Given the description of an element on the screen output the (x, y) to click on. 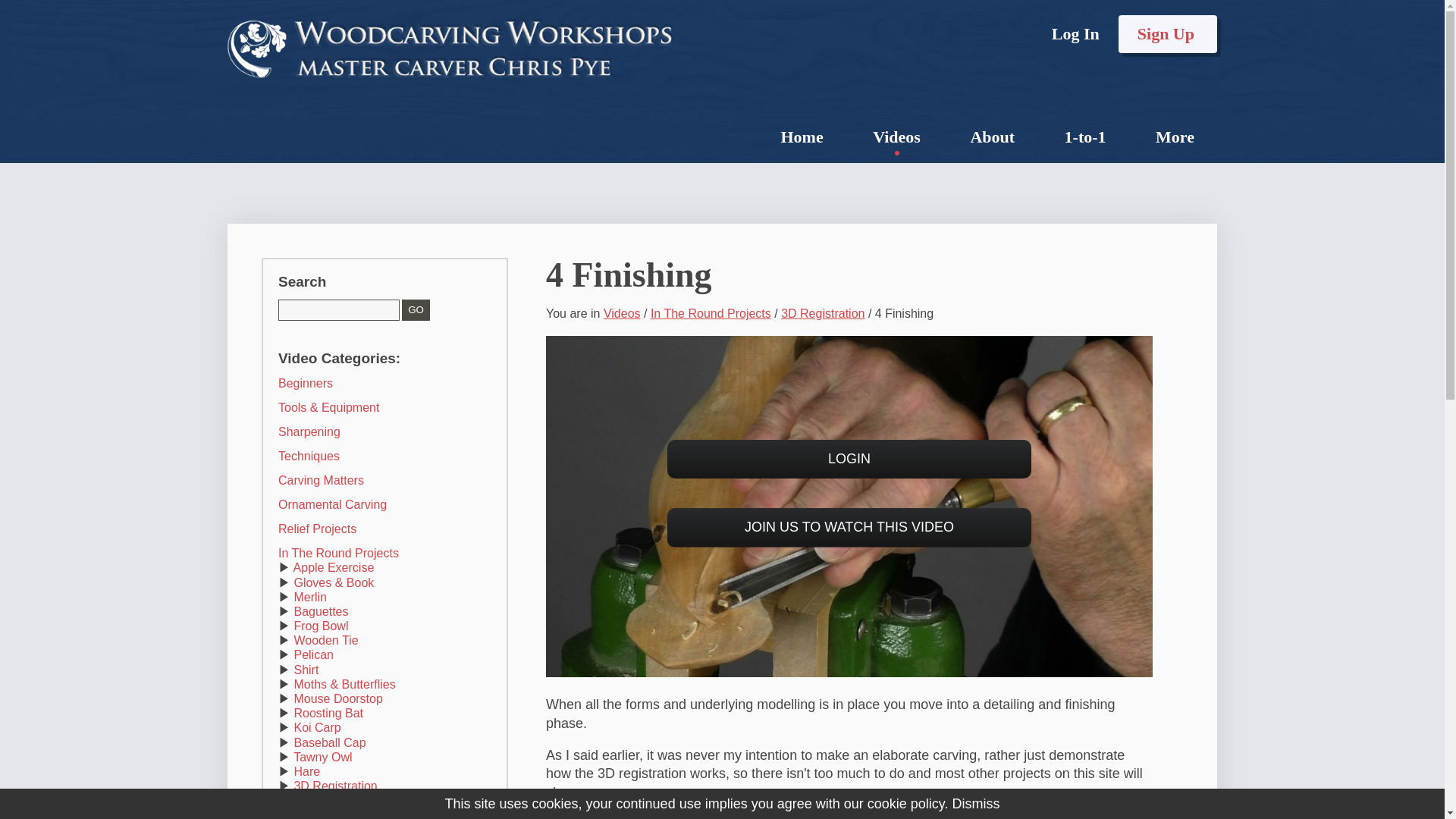
Sign Up (1167, 34)
Beginners (305, 382)
cookie policy (905, 803)
GO (415, 310)
About (991, 136)
Home (801, 136)
GO (415, 310)
Baguettes (320, 611)
More (1174, 136)
Carving Matters (321, 480)
Relief Projects (317, 528)
Ornamental Carving (332, 504)
Frog Bowl (320, 625)
Merlin (310, 596)
Apple Exercise (334, 567)
